Given the description of an element on the screen output the (x, y) to click on. 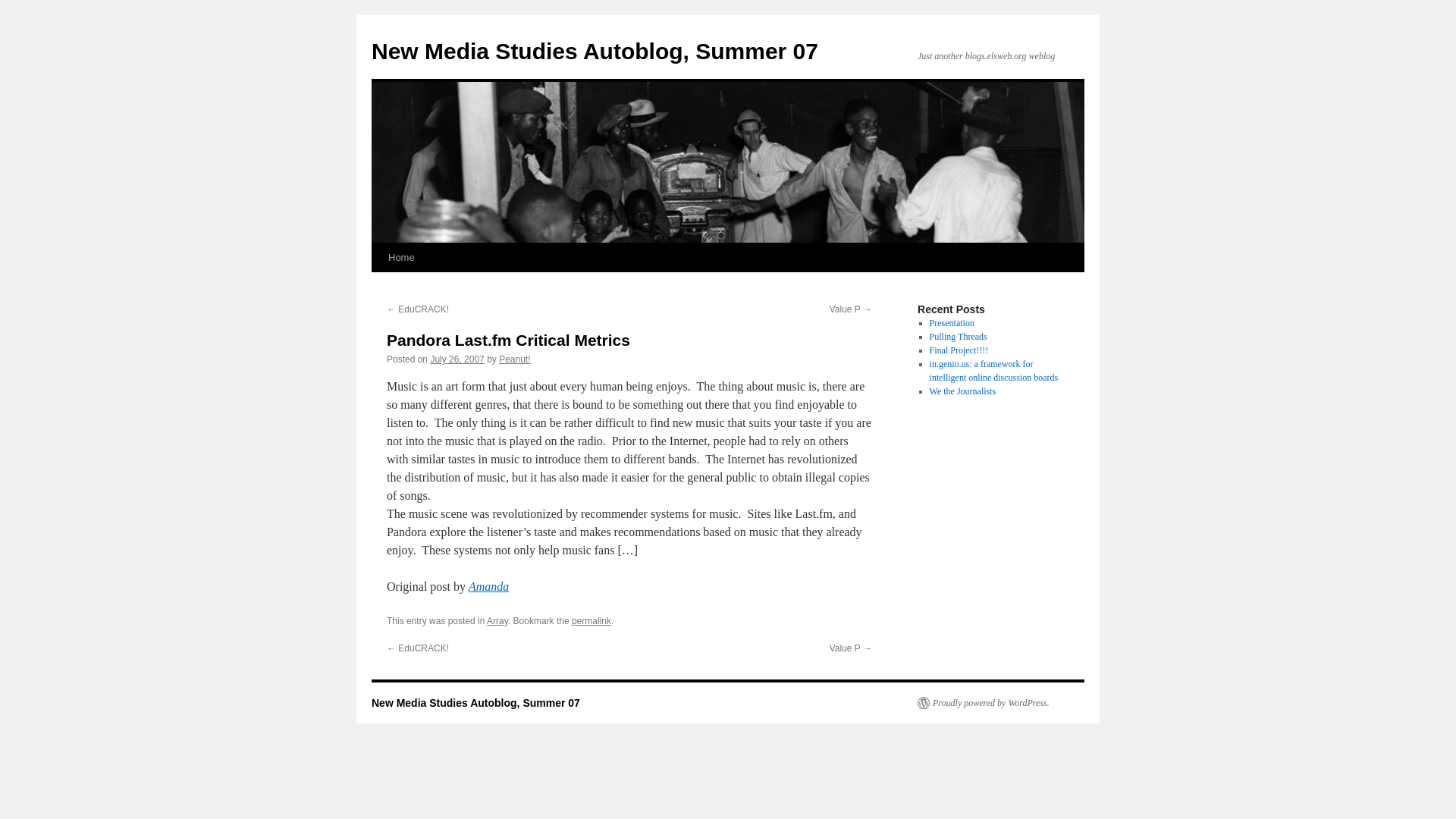
Home (401, 257)
Presentation (952, 322)
permalink (591, 620)
Permalink to Pandora  Last.fm   Critical Metrics (591, 620)
View all posts by Peanut! (514, 358)
Amanda (488, 585)
Final Project!!!! (959, 349)
10:09 am (456, 358)
Array (497, 620)
July 26, 2007 (456, 358)
Peanut! (514, 358)
We the Journalists (962, 390)
Pulling Threads (958, 336)
New Media Studies Autoblog, Summer 07 (594, 50)
